Given the description of an element on the screen output the (x, y) to click on. 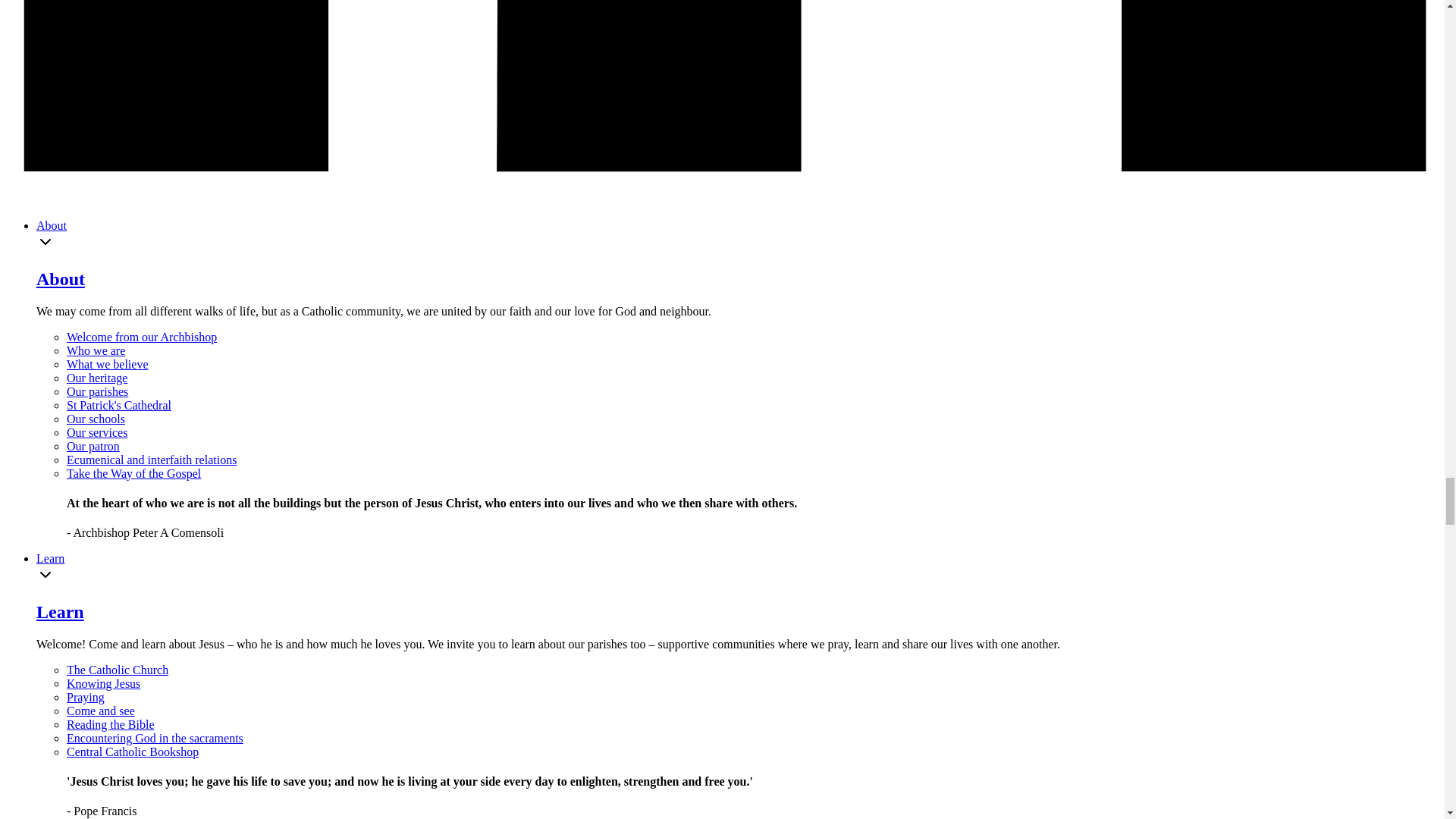
Central Catholic Bookshop (132, 751)
St Patrick's Cathedral (118, 404)
Learn (50, 558)
Ecumenical and interfaith relations (150, 459)
Praying (85, 697)
Reading the Bible (110, 724)
Our parishes (97, 391)
What we believe (107, 364)
Knowing Jesus (102, 683)
Welcome from our Archbishop (141, 336)
